Given the description of an element on the screen output the (x, y) to click on. 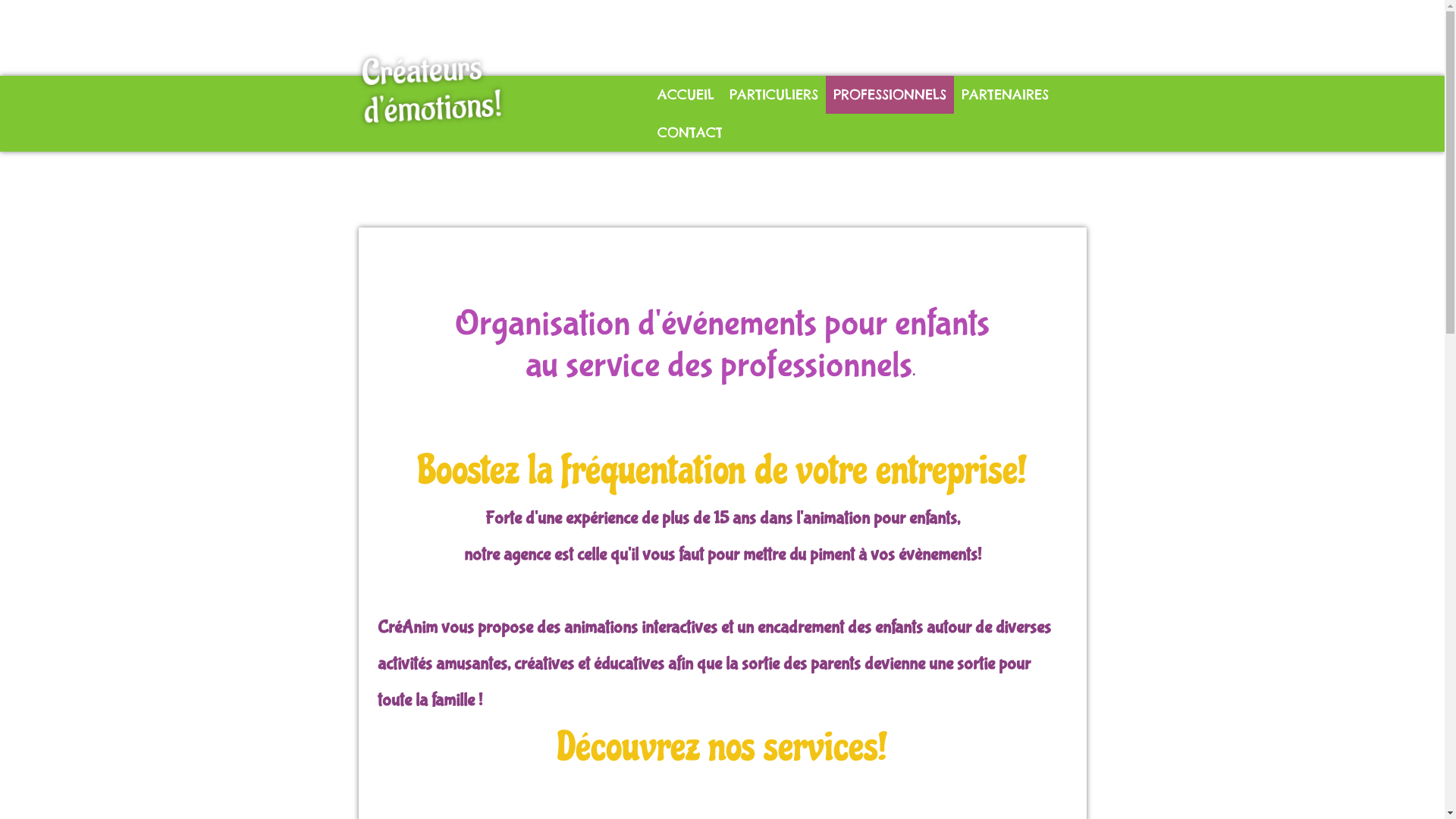
PROFESSIONNELS Element type: text (889, 94)
PARTENAIRES Element type: text (1004, 94)
PARTICULIERS Element type: text (773, 94)
ACCUEIL Element type: text (685, 94)
CONTACT Element type: text (689, 132)
